Given the description of an element on the screen output the (x, y) to click on. 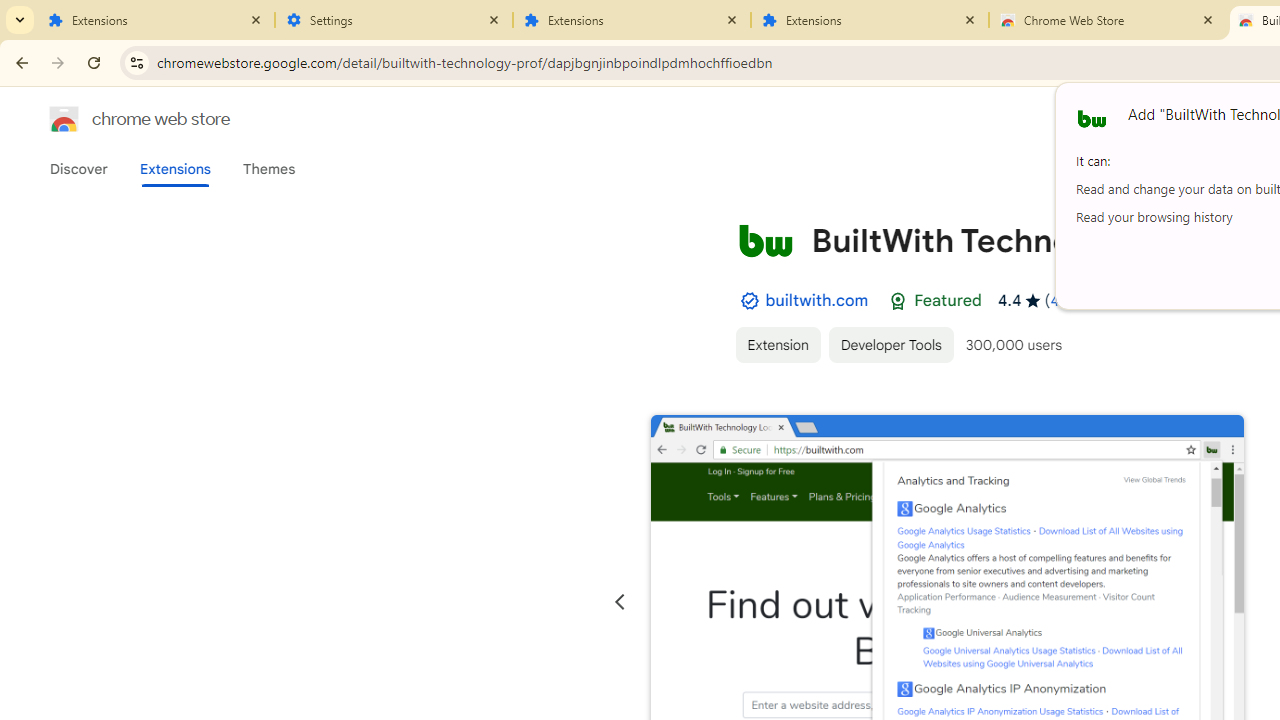
builtwith.com (817, 300)
Extensions (870, 20)
Extensions (156, 20)
By Established Publisher Badge (749, 301)
Themes (269, 169)
Chrome Web Store logo (63, 118)
